Given the description of an element on the screen output the (x, y) to click on. 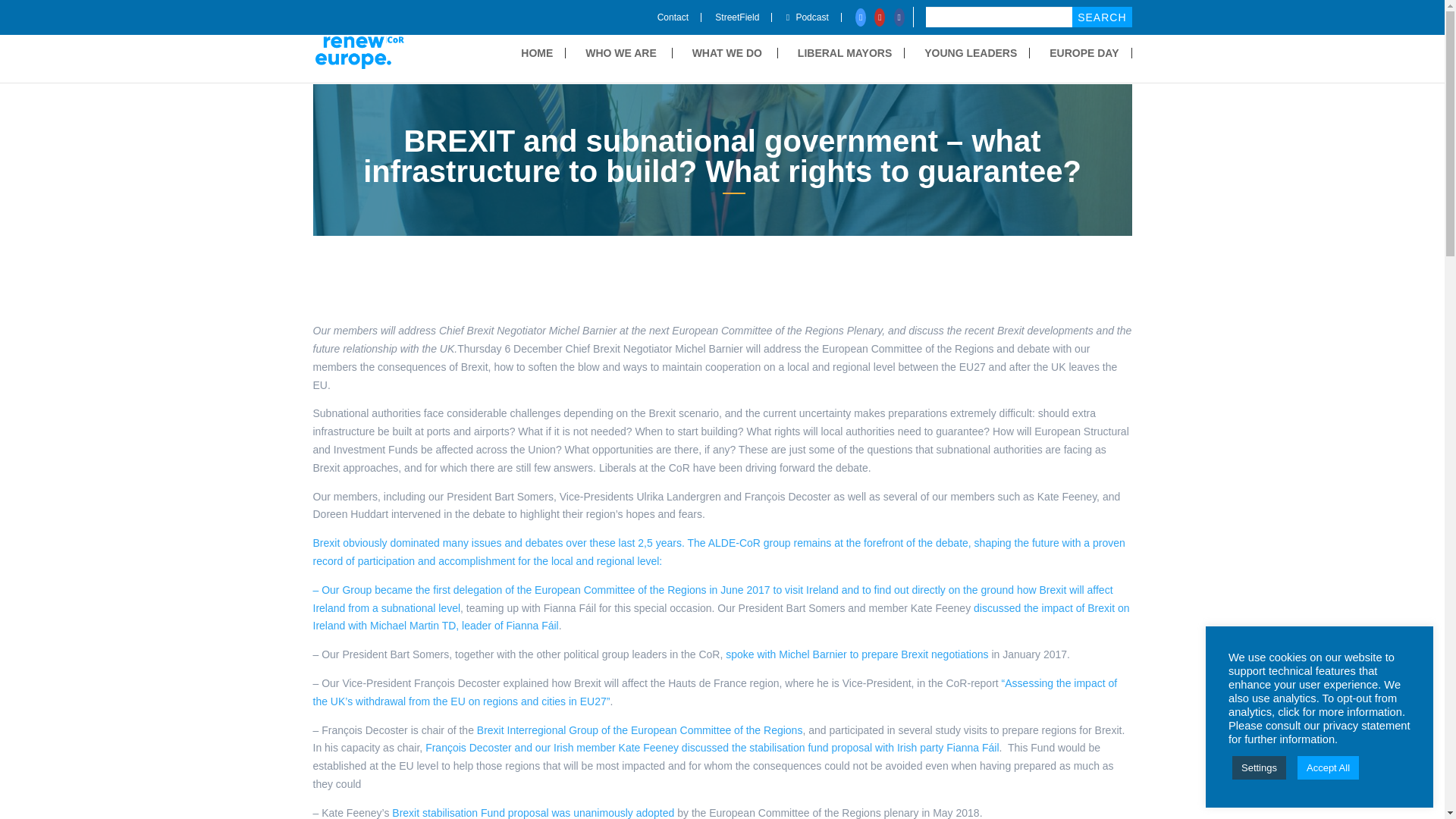
Contact (679, 17)
LIBERAL MAYORS (850, 52)
WHAT WE DO (735, 52)
WHO WE ARE (628, 52)
DCb4L7YXoAA1QzH (722, 159)
Search for: (1021, 16)
EUROPE DAY (1090, 52)
Search (1101, 16)
Podcast (813, 17)
Search (1101, 16)
